Given the description of an element on the screen output the (x, y) to click on. 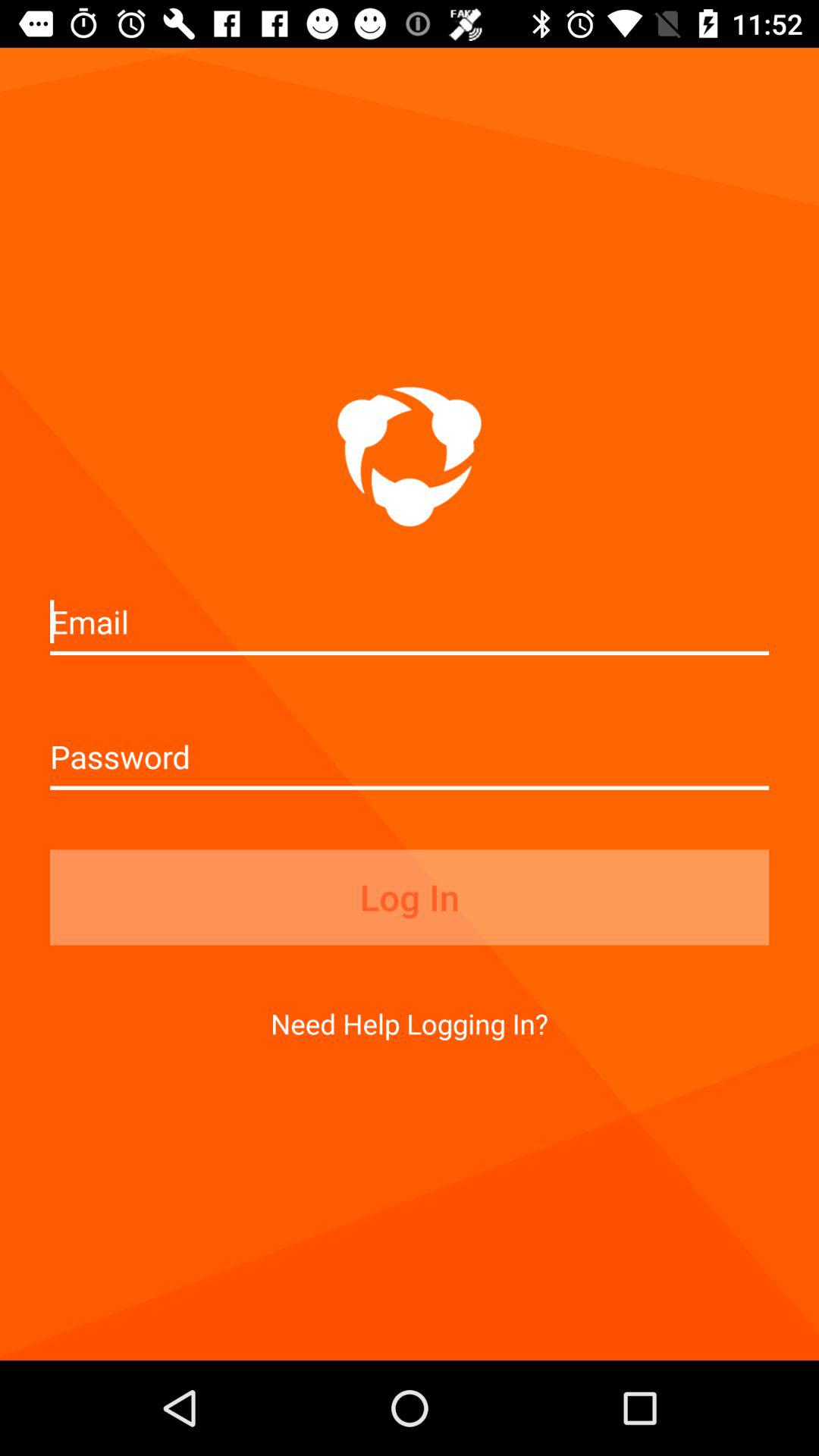
scroll to the need help logging item (409, 1023)
